Given the description of an element on the screen output the (x, y) to click on. 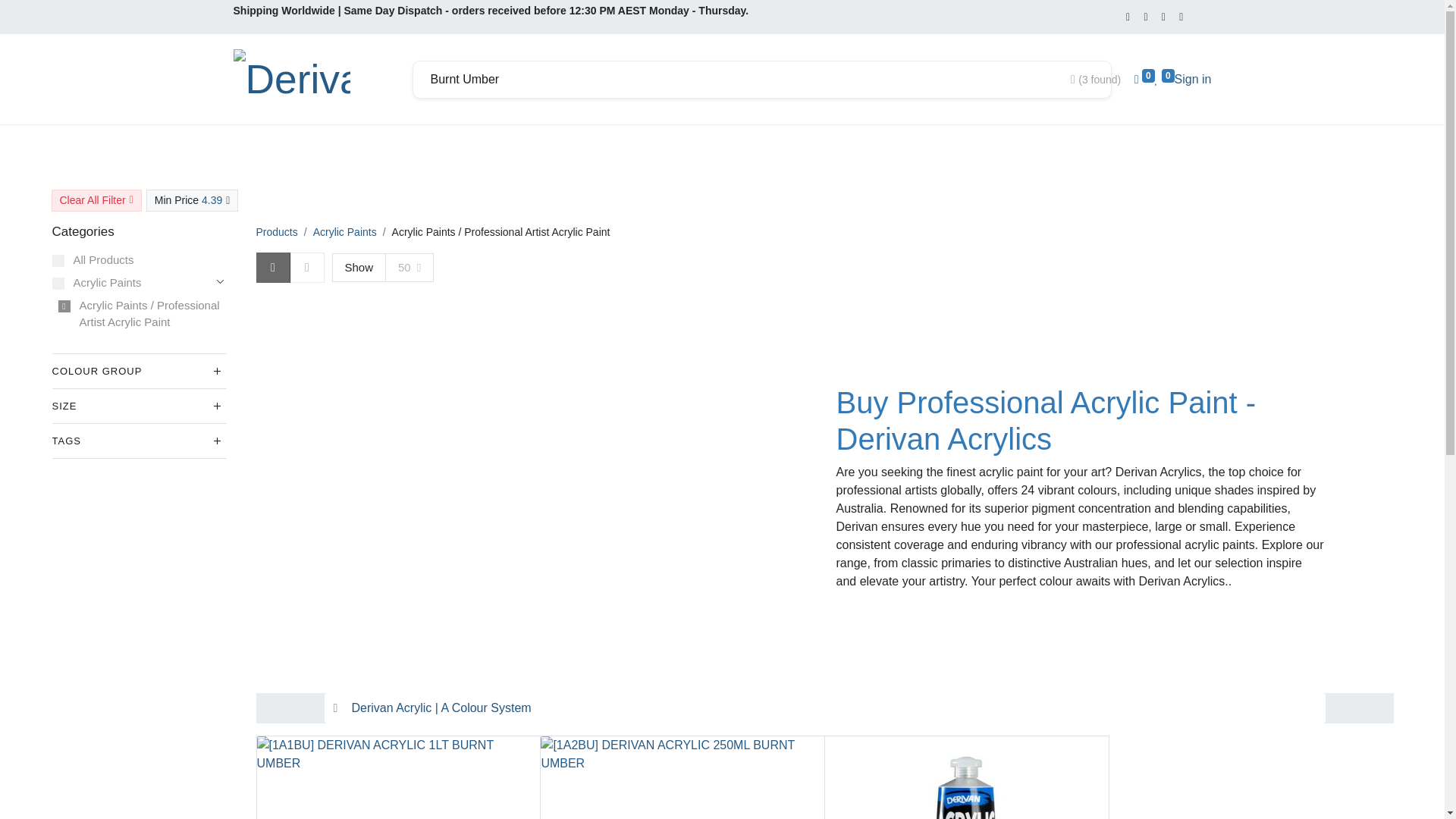
Sign in (1192, 78)
Burnt Umber (742, 79)
0 (1164, 78)
grid (261, 257)
Search (1089, 79)
0 (1144, 78)
Burnt Umber (742, 79)
list (261, 257)
Derivan B2C Website (291, 79)
